Given the description of an element on the screen output the (x, y) to click on. 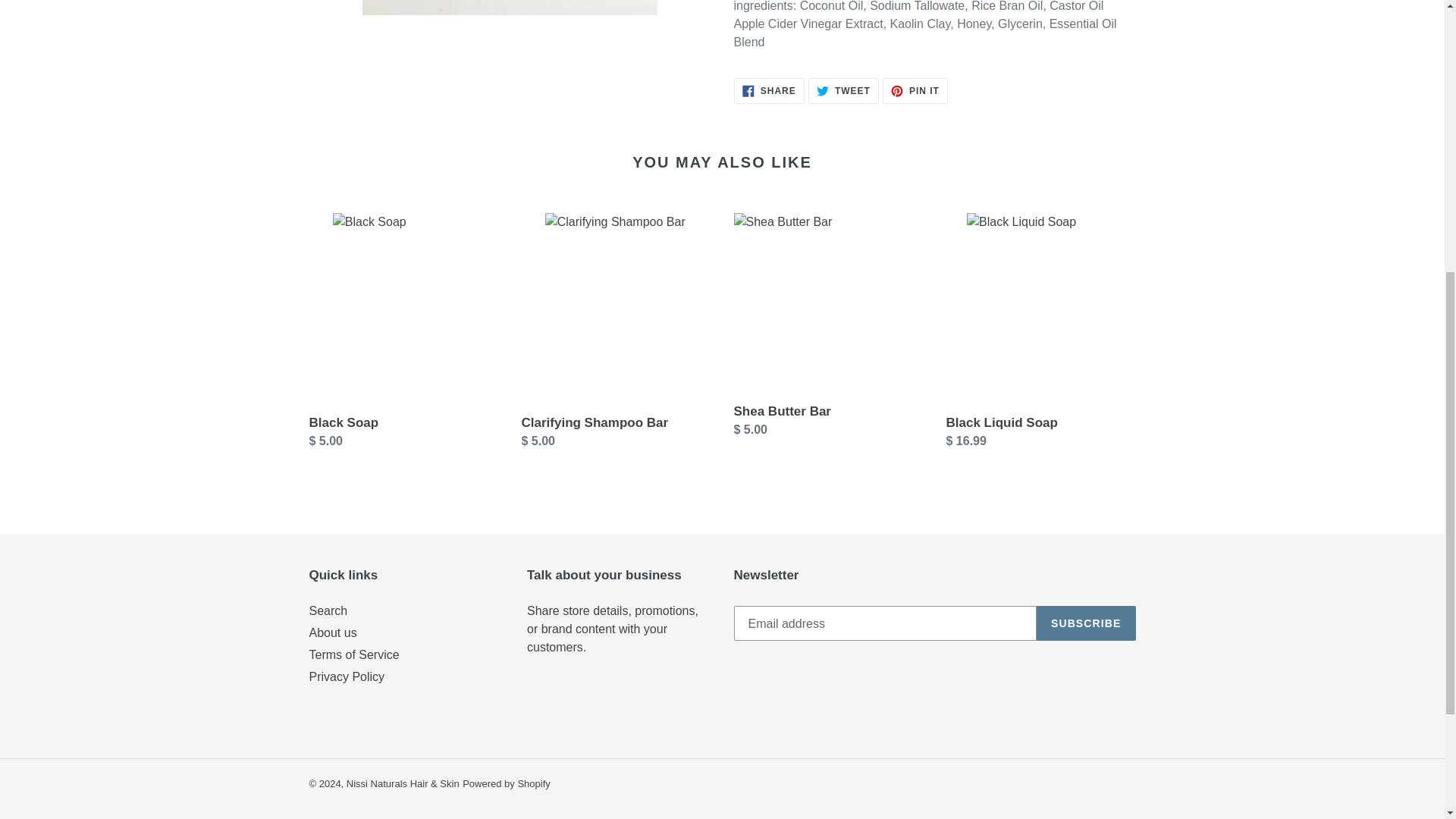
Terms of Service (769, 90)
Privacy Policy (353, 654)
SUBSCRIBE (346, 676)
About us (1085, 623)
Powered by Shopify (843, 90)
Search (914, 90)
